Given the description of an element on the screen output the (x, y) to click on. 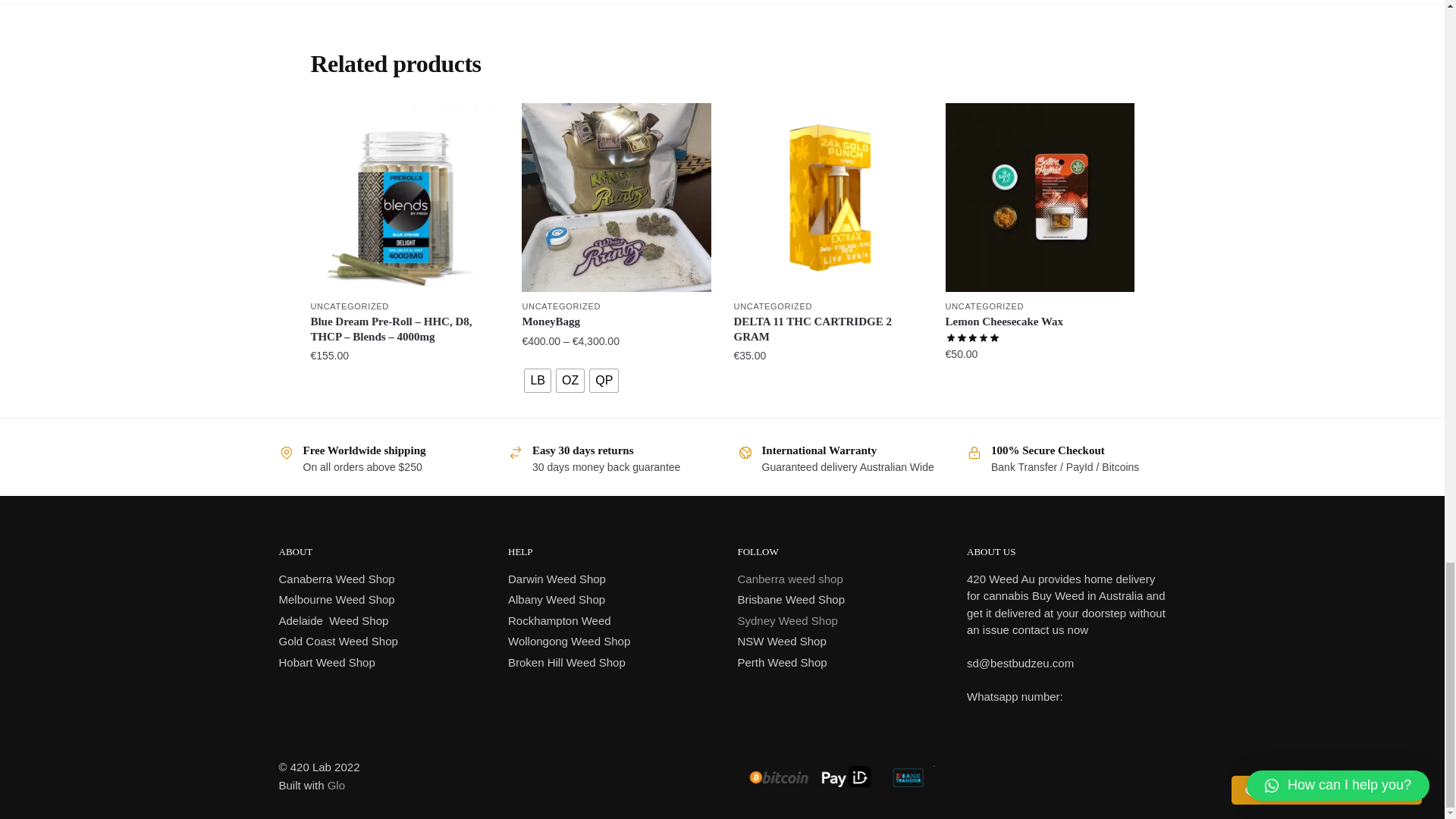
OZ (569, 380)
LB (537, 380)
QP (603, 380)
